Given the description of an element on the screen output the (x, y) to click on. 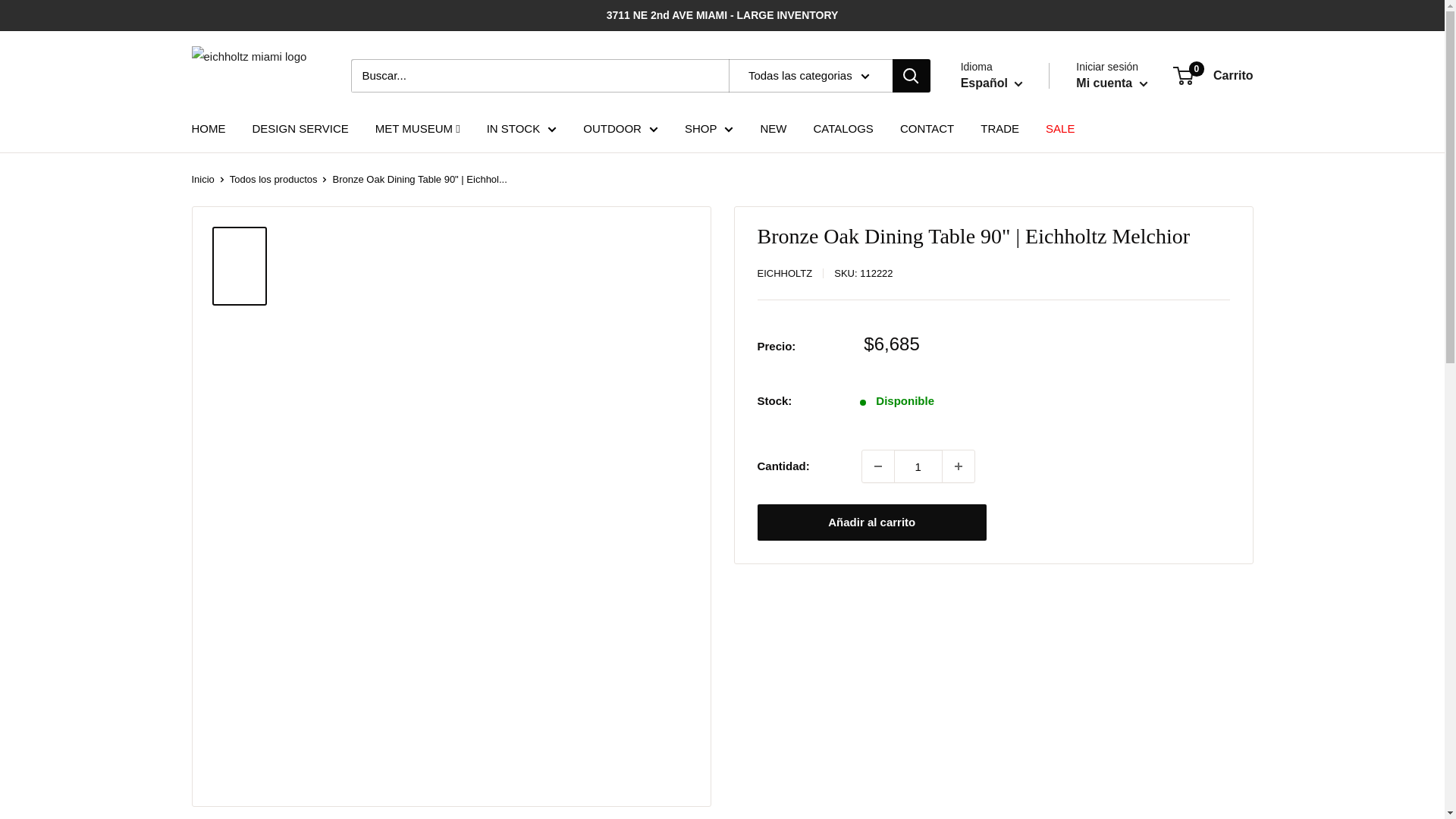
Disminuir la cantidad en 1 (877, 466)
1 (917, 466)
Aumentar la cantidad en 1 (958, 466)
